Given the description of an element on the screen output the (x, y) to click on. 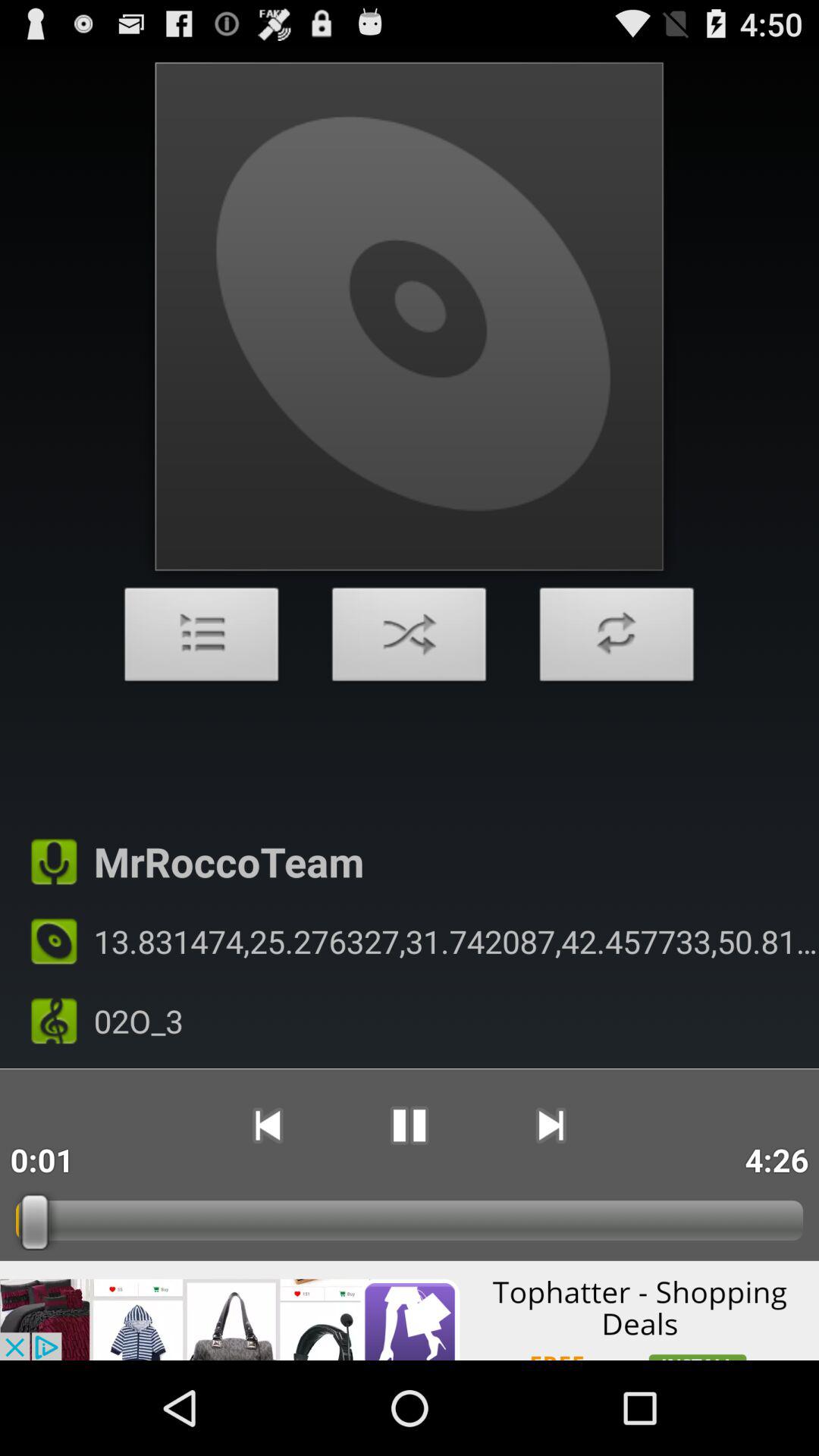
open (201, 638)
